Given the description of an element on the screen output the (x, y) to click on. 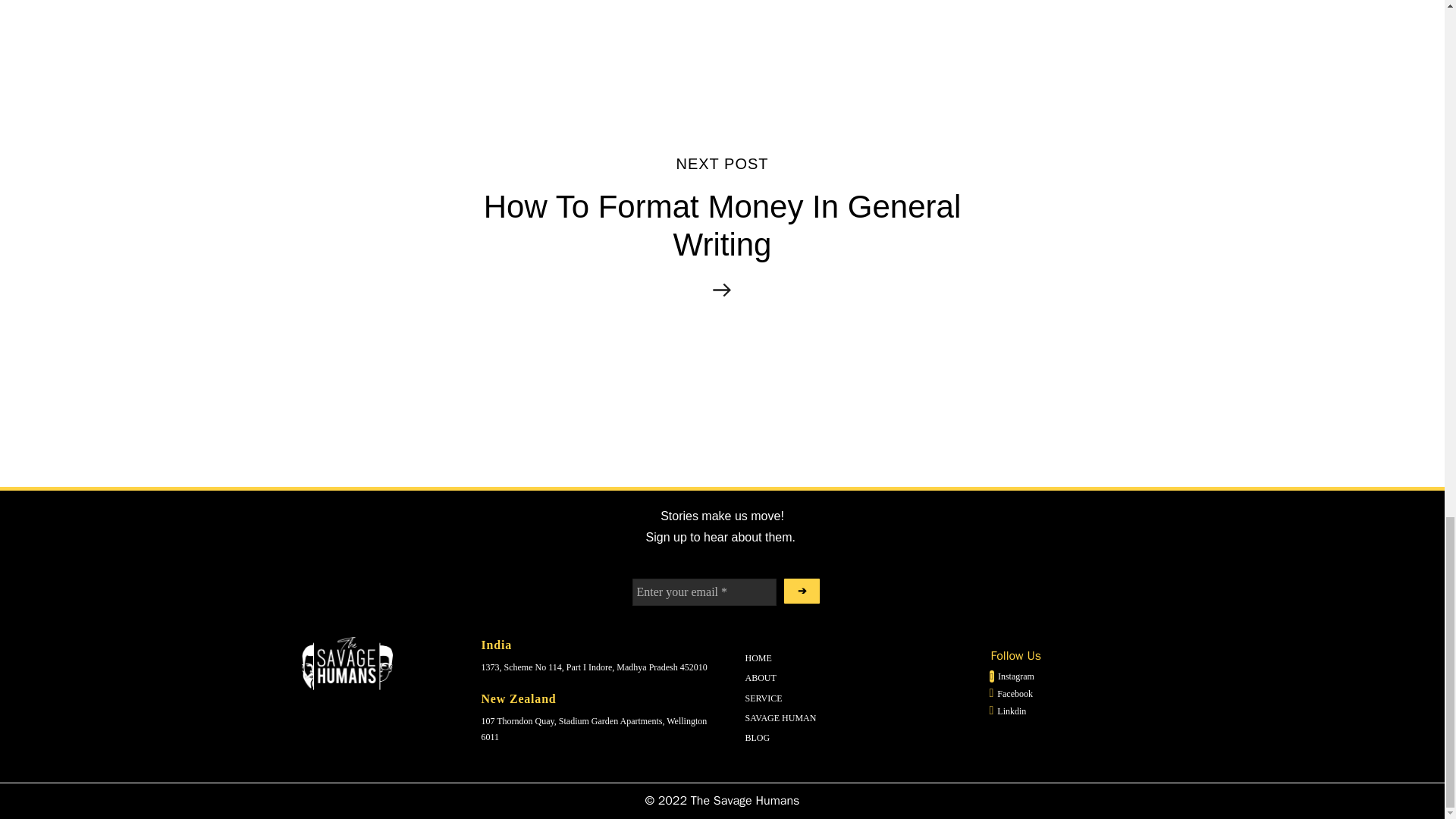
Enter your email (703, 592)
Facebook (1010, 693)
SAVAGE HUMAN (779, 717)
BLOG (721, 226)
Linkdin (757, 737)
SERVICE (1007, 710)
ABOUT (762, 697)
HOME (760, 677)
Instagram (757, 657)
